Given the description of an element on the screen output the (x, y) to click on. 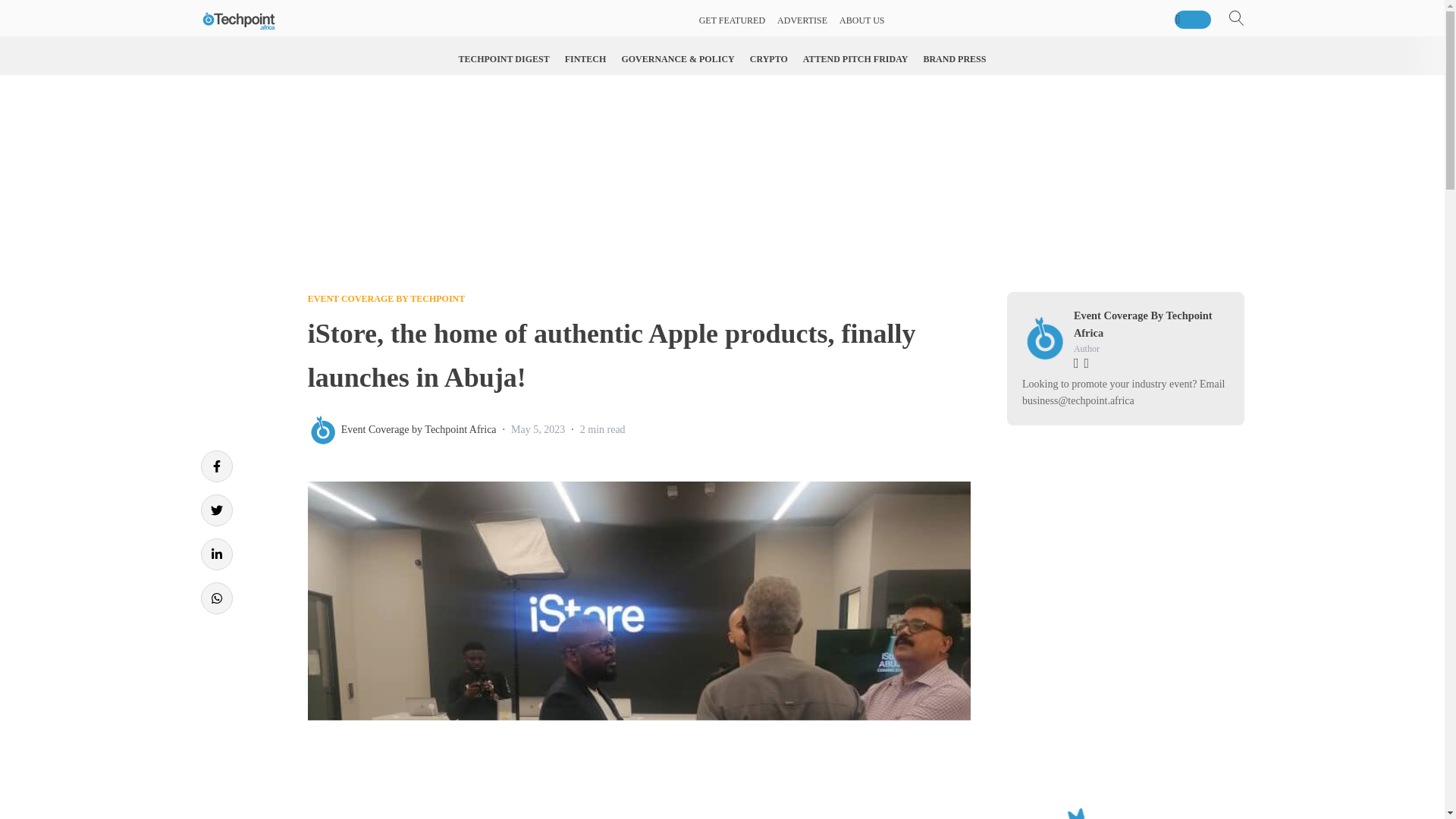
EVENT COVERAGE BY TECHPOINT (386, 298)
Share on Whatsapp (215, 598)
BRAND PRESS (953, 59)
Share on LinkedIn (215, 554)
Event Coverage By Techpoint Africa (1143, 324)
Share on Twitter (215, 510)
ATTEND PITCH FRIDAY (854, 59)
Posts by Event Coverage by Techpoint Africa (418, 429)
Share on Facebook (215, 466)
GET FEATURED (731, 20)
ABOUT US (861, 20)
ADVERTISE (802, 20)
Event Coverage by Techpoint Africa (418, 429)
TECHPOINT DIGEST (504, 59)
FINTECH (585, 59)
